Given the description of an element on the screen output the (x, y) to click on. 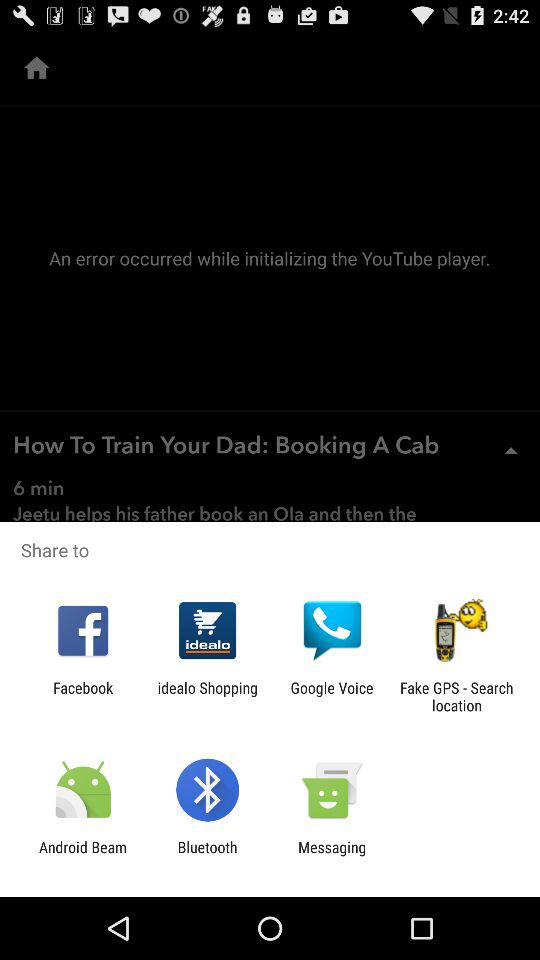
tap app to the left of the messaging item (207, 856)
